Given the description of an element on the screen output the (x, y) to click on. 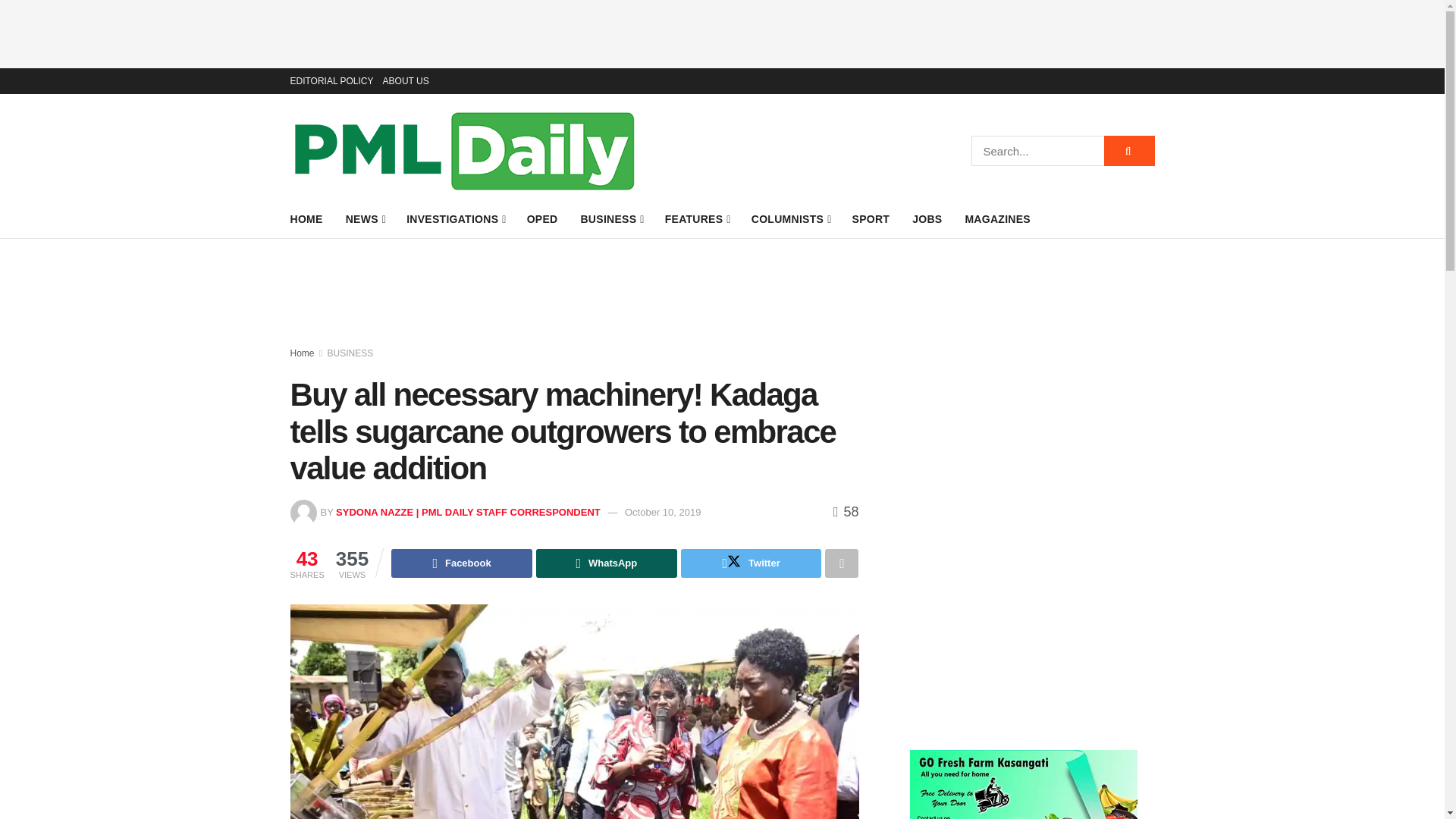
OPED (542, 219)
FEATURES (697, 219)
MAGAZINES (996, 219)
ABOUT US (405, 80)
JOBS (927, 219)
INVESTIGATIONS (454, 219)
SPORT (870, 219)
HOME (305, 219)
BUSINESS (610, 219)
NEWS (365, 219)
